Given the description of an element on the screen output the (x, y) to click on. 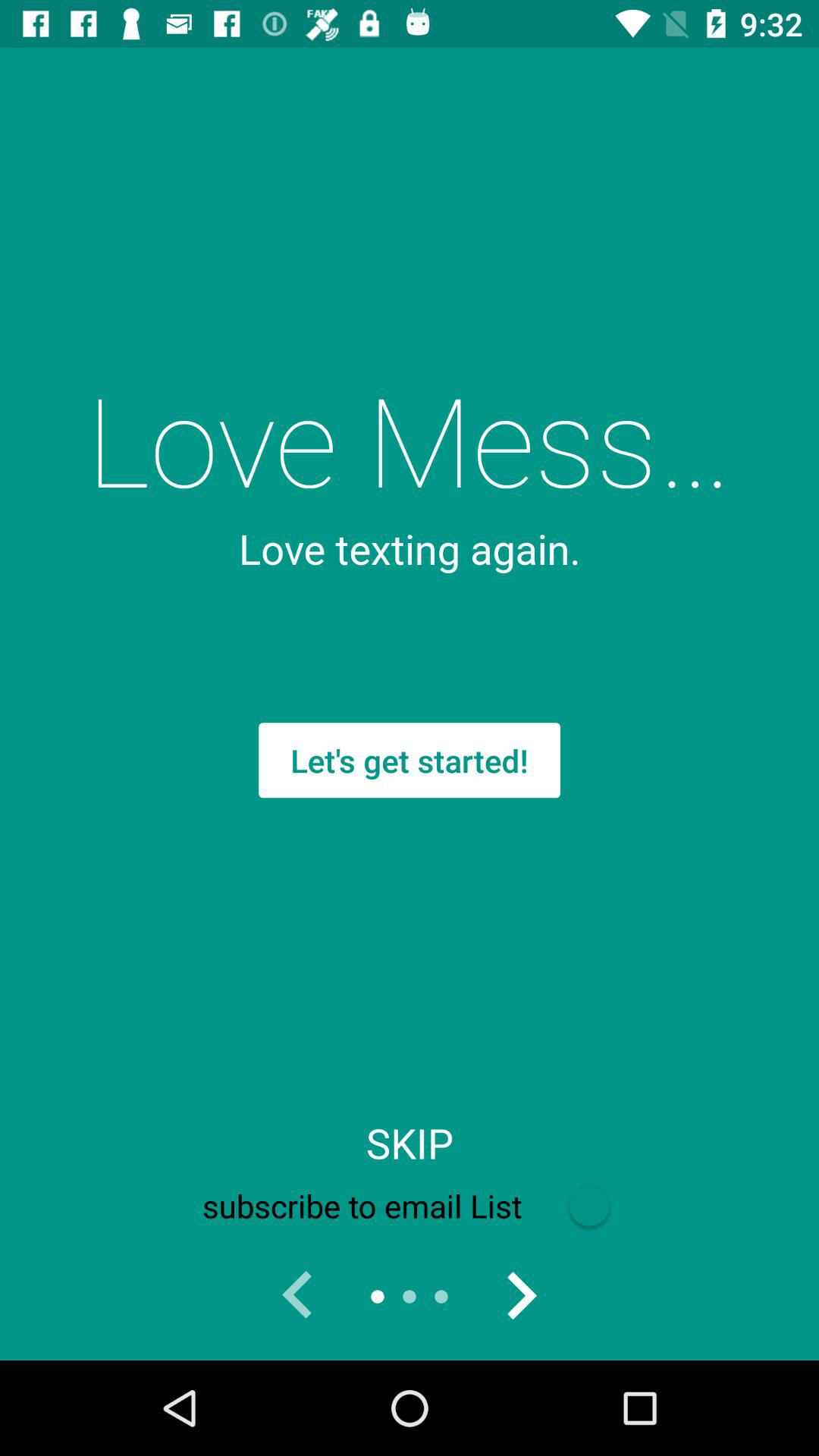
flip to the skip item (409, 1143)
